Given the description of an element on the screen output the (x, y) to click on. 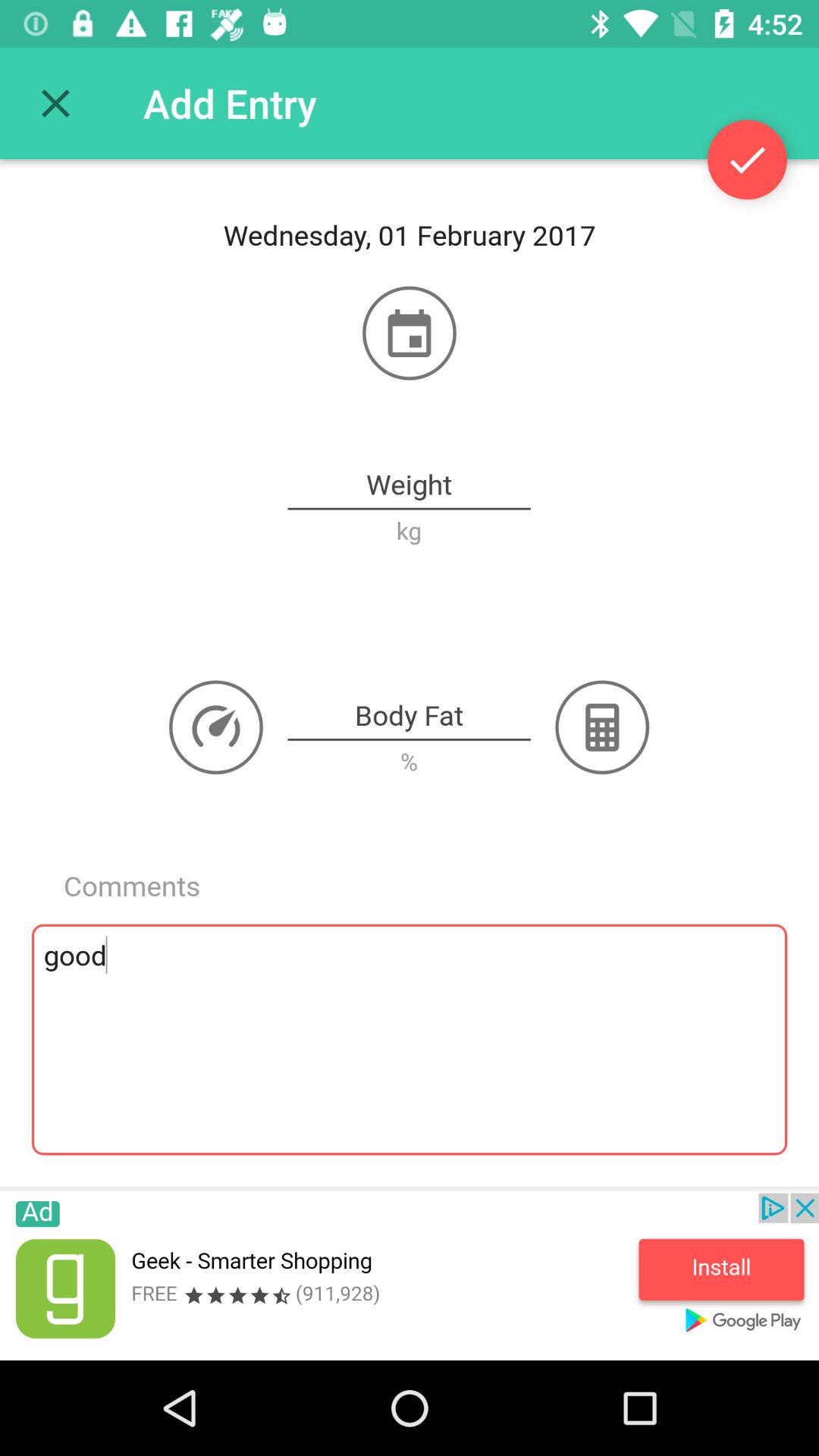
go to seleced (747, 159)
